Given the description of an element on the screen output the (x, y) to click on. 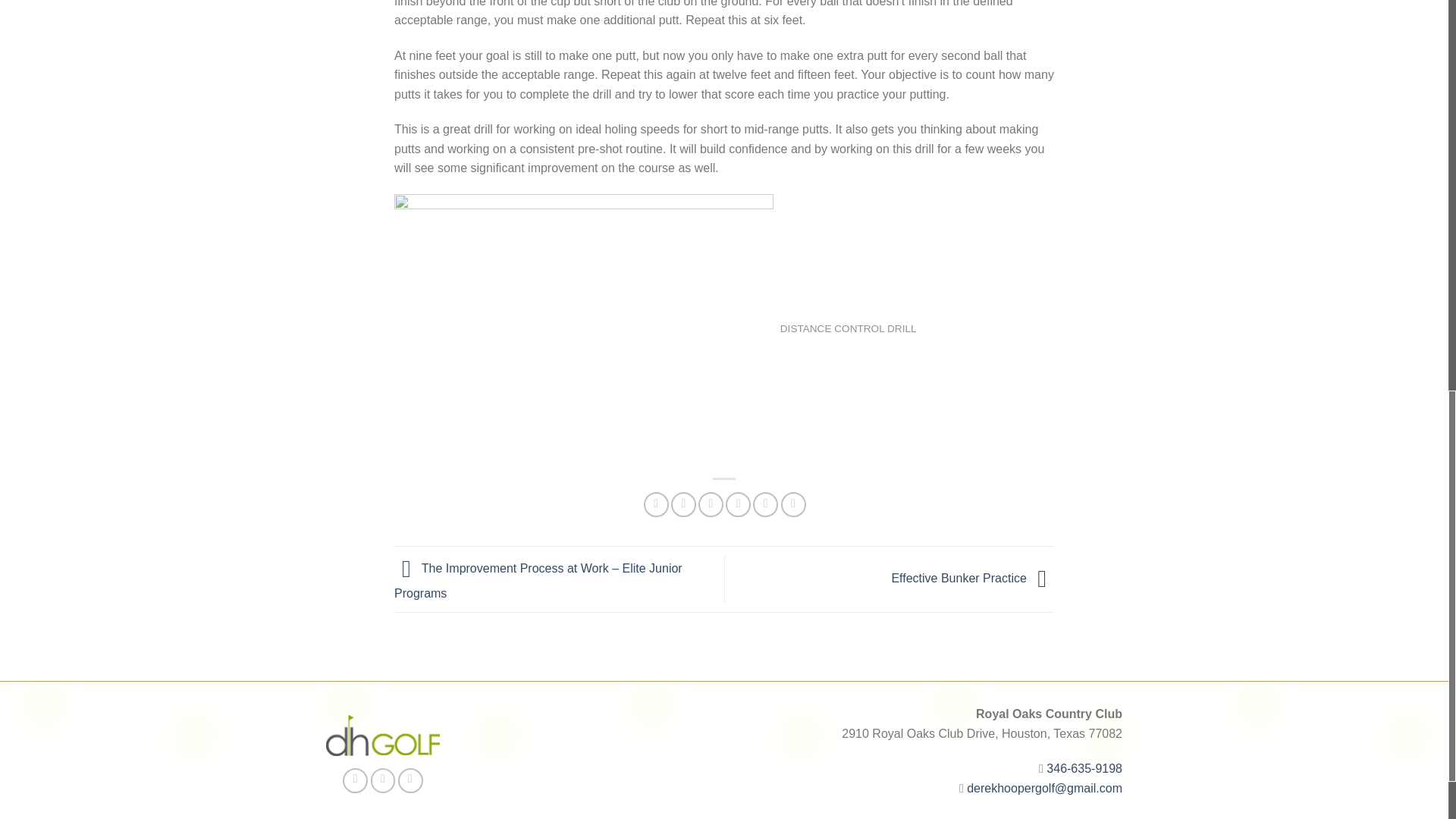
Share on Twitter (683, 504)
Effective Bunker Practice (972, 577)
Follow on Facebook (355, 780)
Ladder drill (583, 329)
Follow on Twitter (383, 780)
Email to a Friend (710, 504)
Pin on Pinterest (738, 504)
Share on Facebook (655, 504)
Share on LinkedIn (793, 504)
346-635-9198 (1084, 768)
